Given the description of an element on the screen output the (x, y) to click on. 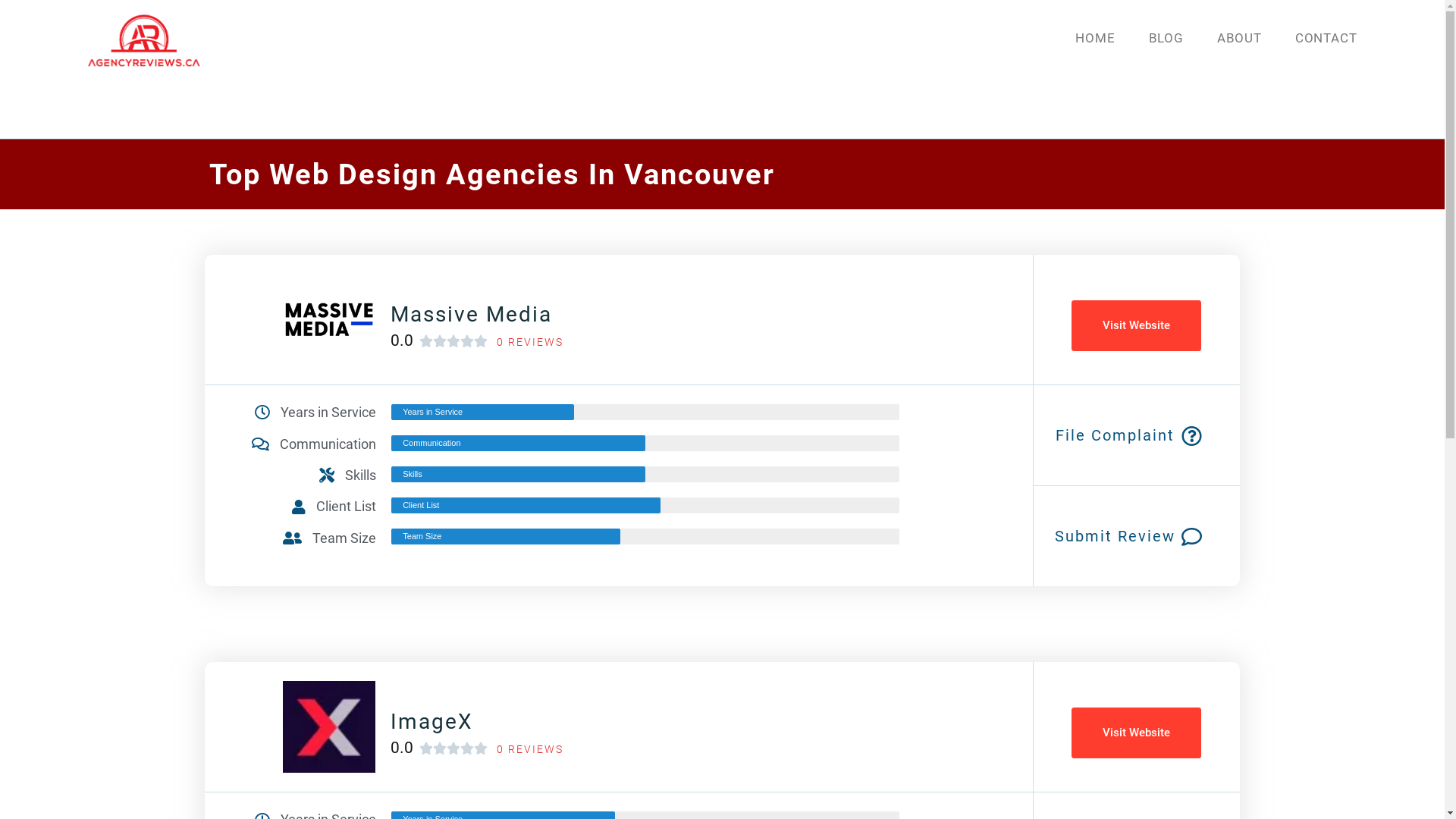
ABOUT Element type: text (1238, 38)
Visit Website Element type: text (1136, 732)
BLOG Element type: text (1165, 38)
Submit Review Element type: text (1114, 536)
File Complaint Element type: text (1114, 435)
Visit Website Element type: text (1136, 325)
CONTACT Element type: text (1325, 38)
HOME Element type: text (1094, 38)
